Given the description of an element on the screen output the (x, y) to click on. 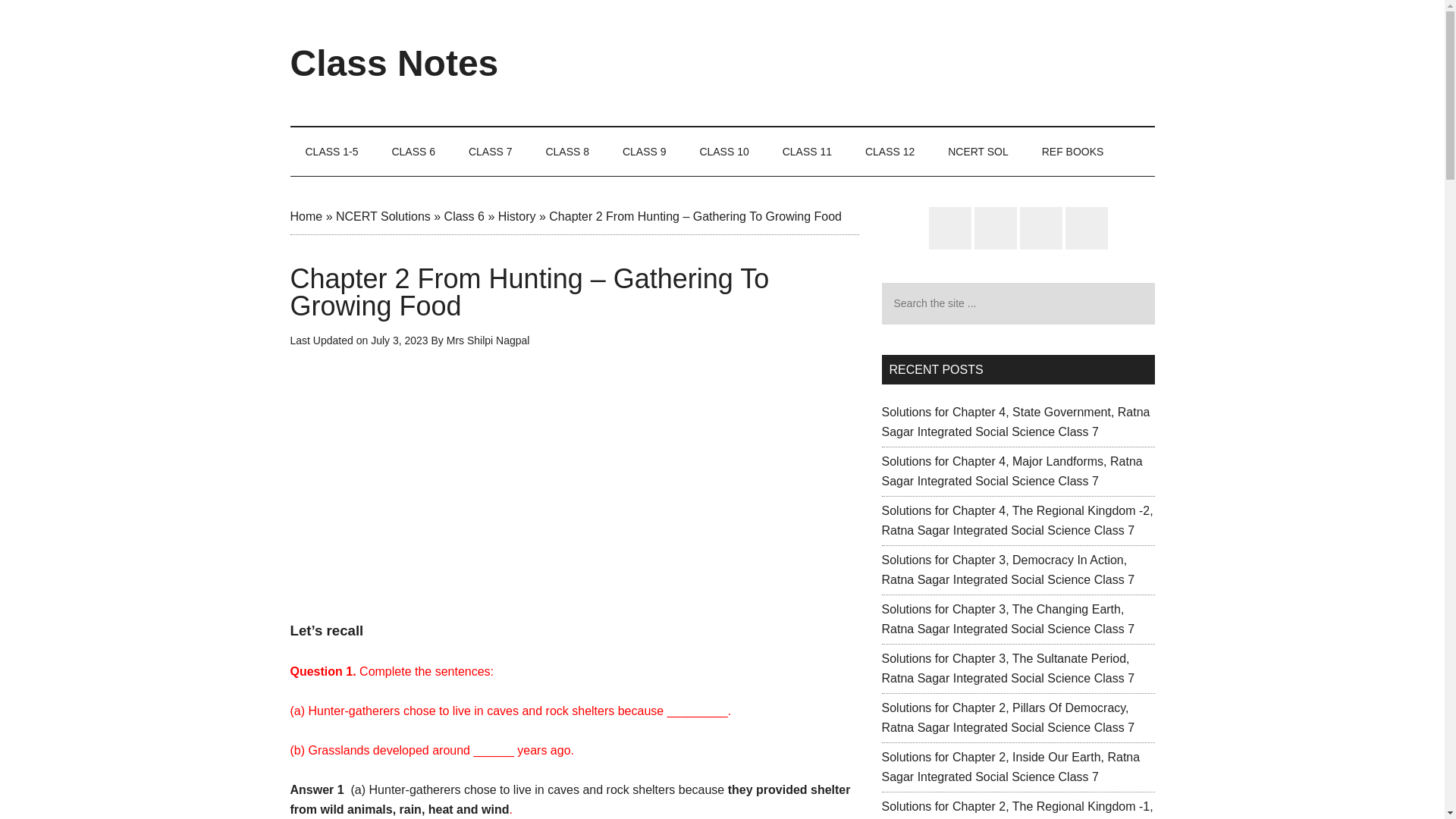
CLASS 8 (566, 151)
CLASS 6 (412, 151)
CLASS 12 (890, 151)
History (516, 215)
CLASS 1-5 (330, 151)
Advertisement (878, 62)
